Given the description of an element on the screen output the (x, y) to click on. 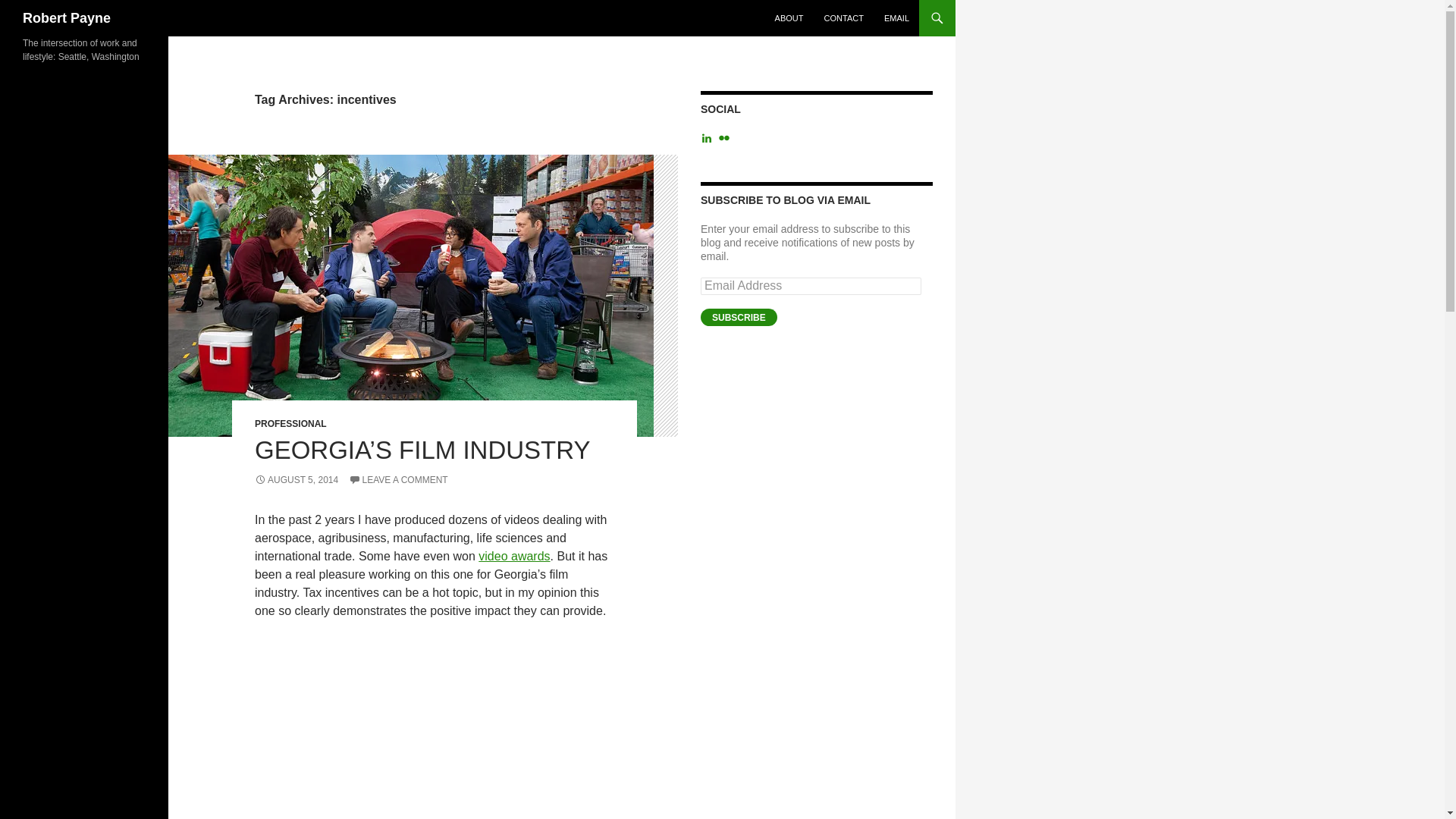
Robert Payne (66, 18)
EMAIL (896, 18)
video awards (514, 555)
CONTACT (843, 18)
PROFESSIONAL (290, 423)
ABOUT (788, 18)
AUGUST 5, 2014 (295, 480)
LEAVE A COMMENT (398, 480)
SUBSCRIBE (738, 316)
